Given the description of an element on the screen output the (x, y) to click on. 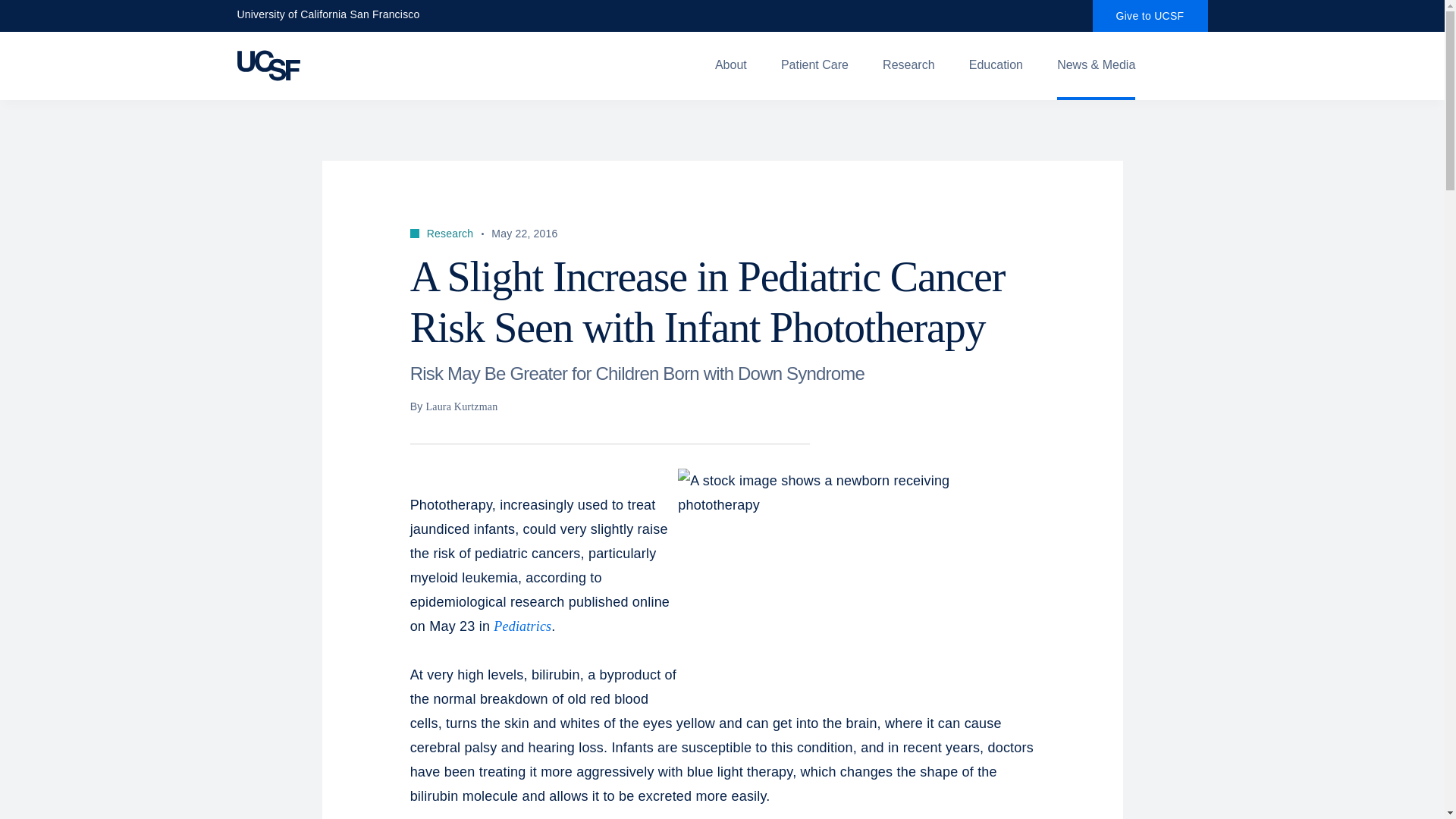
Home (359, 65)
